Given the description of an element on the screen output the (x, y) to click on. 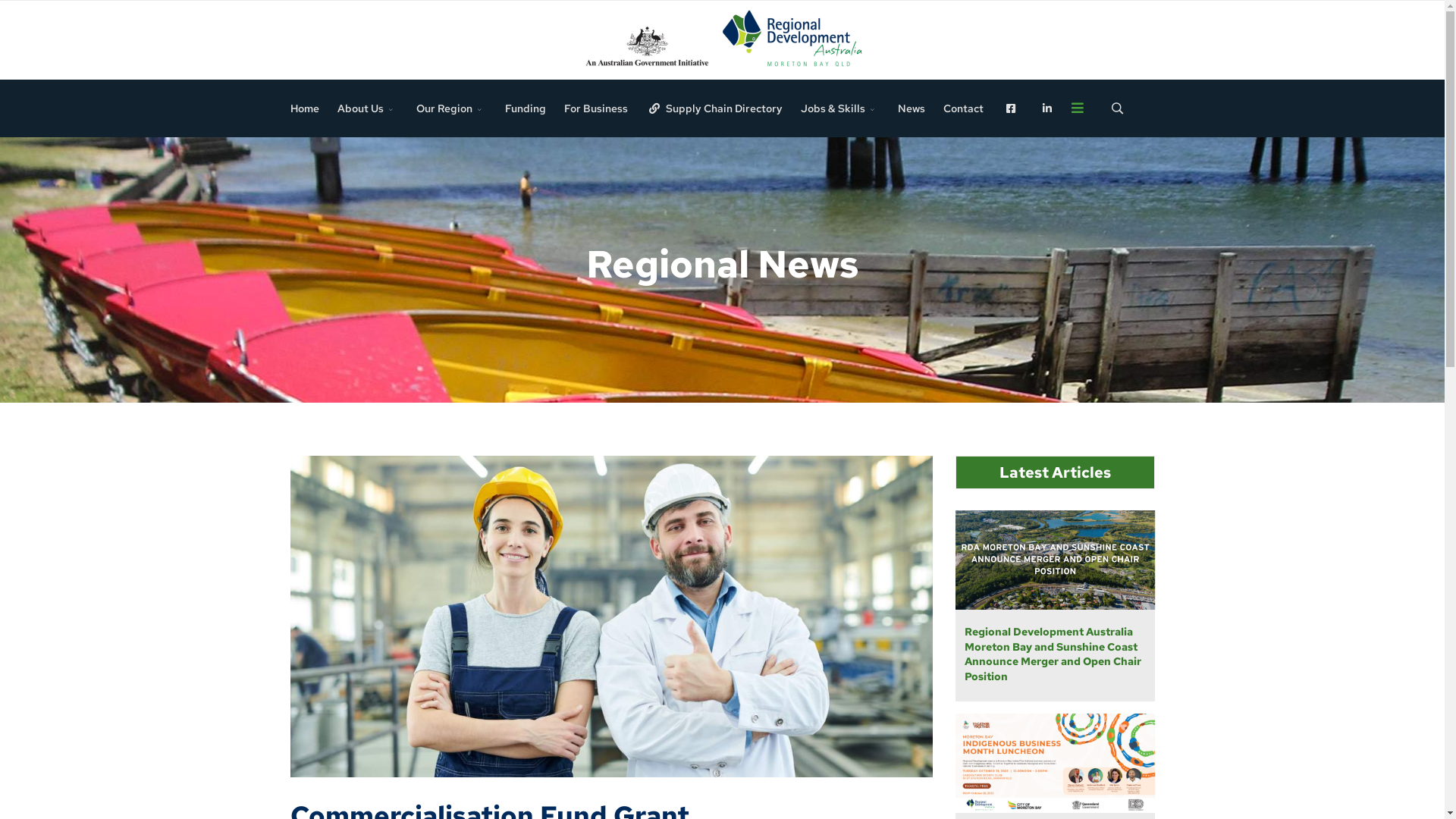
For Business Element type: text (596, 108)
News Element type: text (911, 108)
Home Element type: text (304, 108)
Menu Element type: hover (1077, 107)
Funding Element type: text (525, 108)
Supply Chain Directory Element type: text (714, 108)
Jobs & Skills Element type: text (839, 108)
Our Region Element type: text (451, 108)
About Us Element type: text (367, 108)
Contact Element type: text (963, 108)
